Given the description of an element on the screen output the (x, y) to click on. 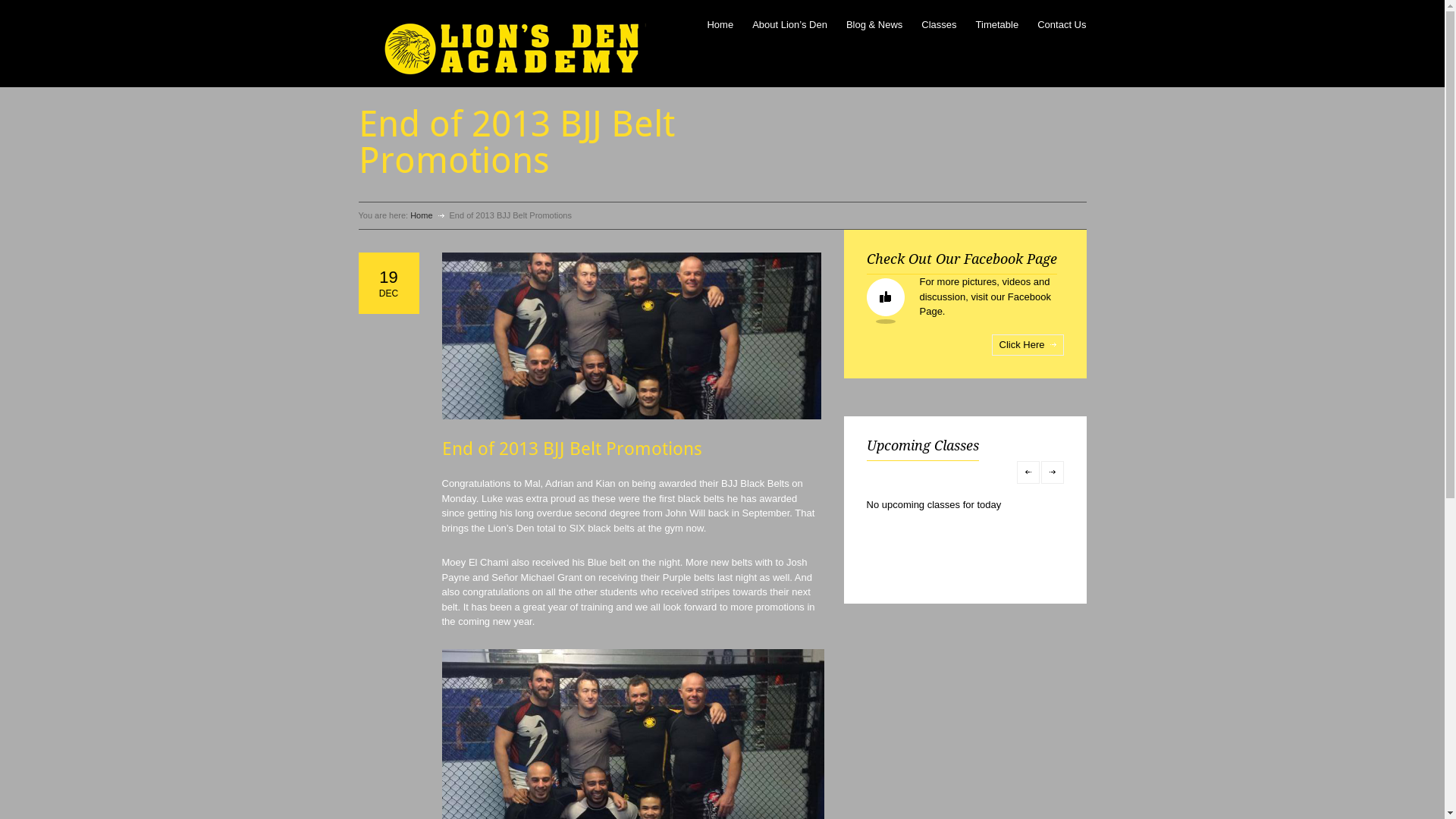
Click Here Element type: text (1027, 343)
Blog & News Element type: text (874, 21)
End of 2013 BJJ Belt Promotions Element type: hover (630, 335)
Home Element type: text (421, 214)
End of 2013 BJJ Belt Promotions Element type: text (571, 448)
Contact Us Element type: text (1061, 21)
Classes Element type: text (938, 21)
Timetable Element type: text (997, 21)
Home Element type: text (719, 21)
